Given the description of an element on the screen output the (x, y) to click on. 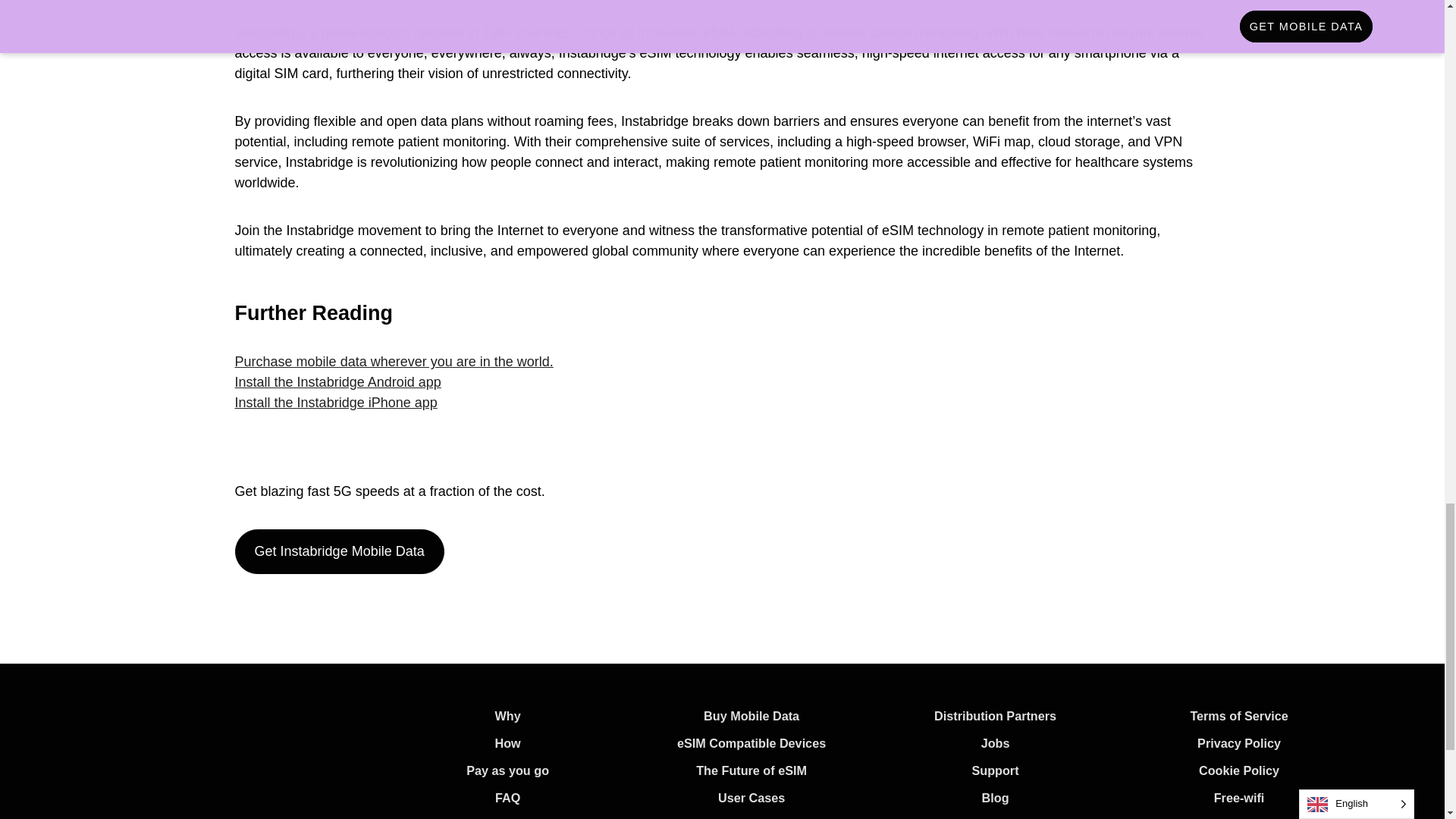
User Cases (750, 797)
How (508, 743)
The Future of eSIM (750, 770)
eSIM Compatible Devices (751, 743)
Install the Instabridge iPhone app (336, 402)
Privacy Policy (1238, 743)
Terms of Service (1238, 715)
Pay as you go (506, 770)
Purchase mobile data wherever you are in the world. (393, 361)
Blog (995, 797)
